Given the description of an element on the screen output the (x, y) to click on. 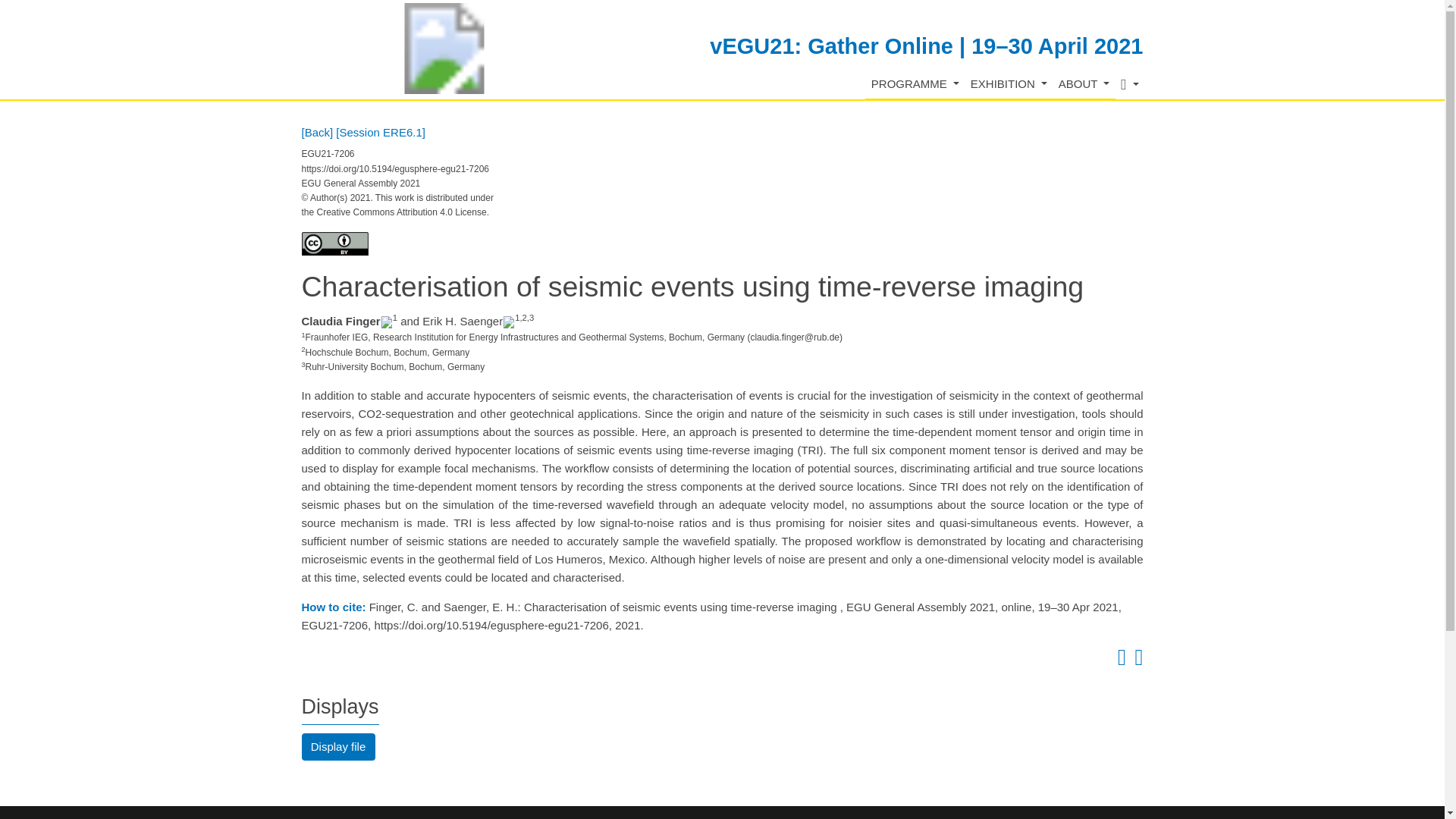
Open QR code linking to abstract URL (1135, 660)
ABOUT (1083, 83)
Copy to clipboard (1118, 660)
PROGRAMME (913, 83)
Display file (338, 746)
EXHIBITION (1007, 83)
